Given the description of an element on the screen output the (x, y) to click on. 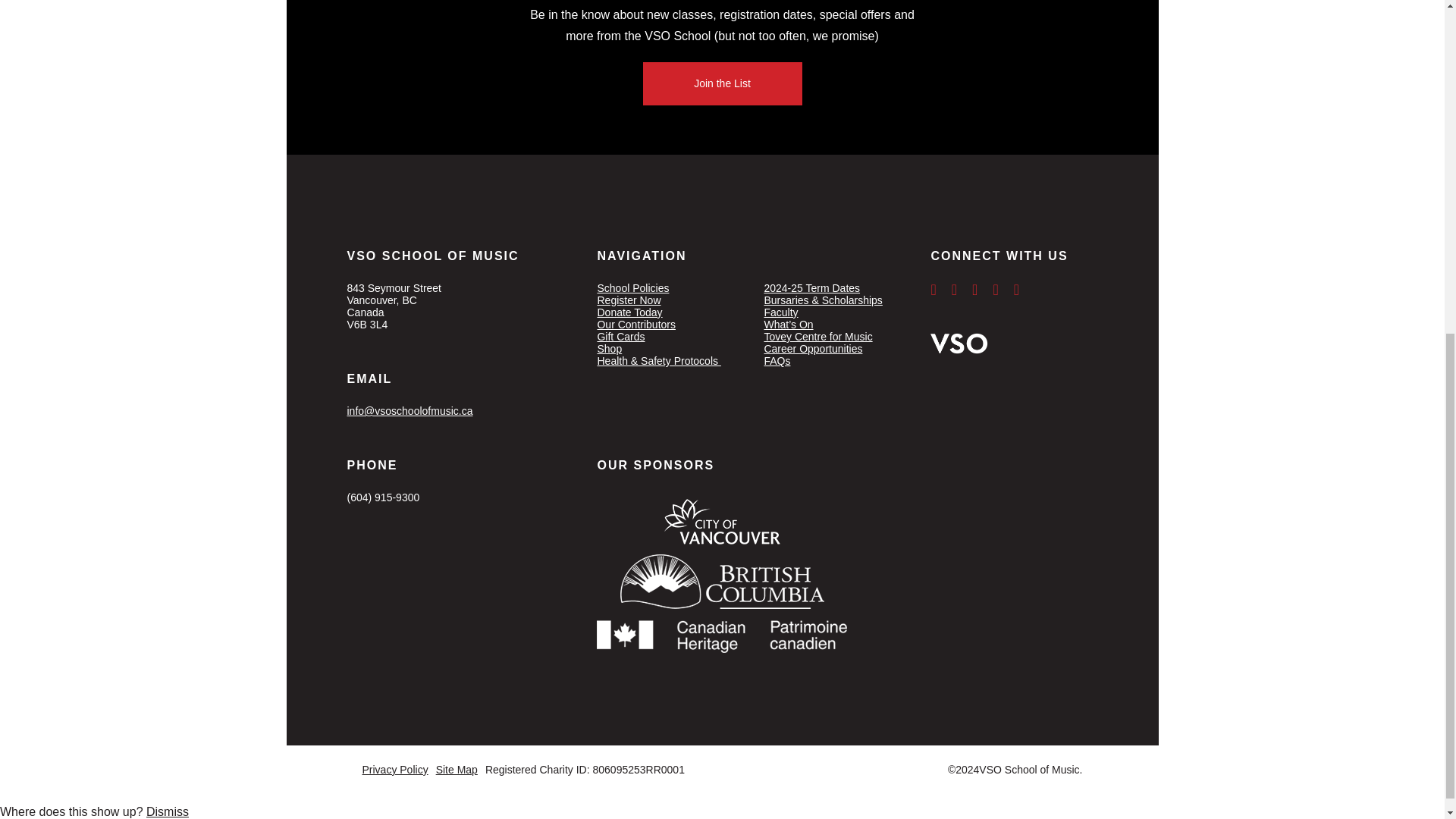
canadian-heritage-logo (721, 633)
British Colubmia (722, 582)
city-of-vancouver (721, 521)
